Given the description of an element on the screen output the (x, y) to click on. 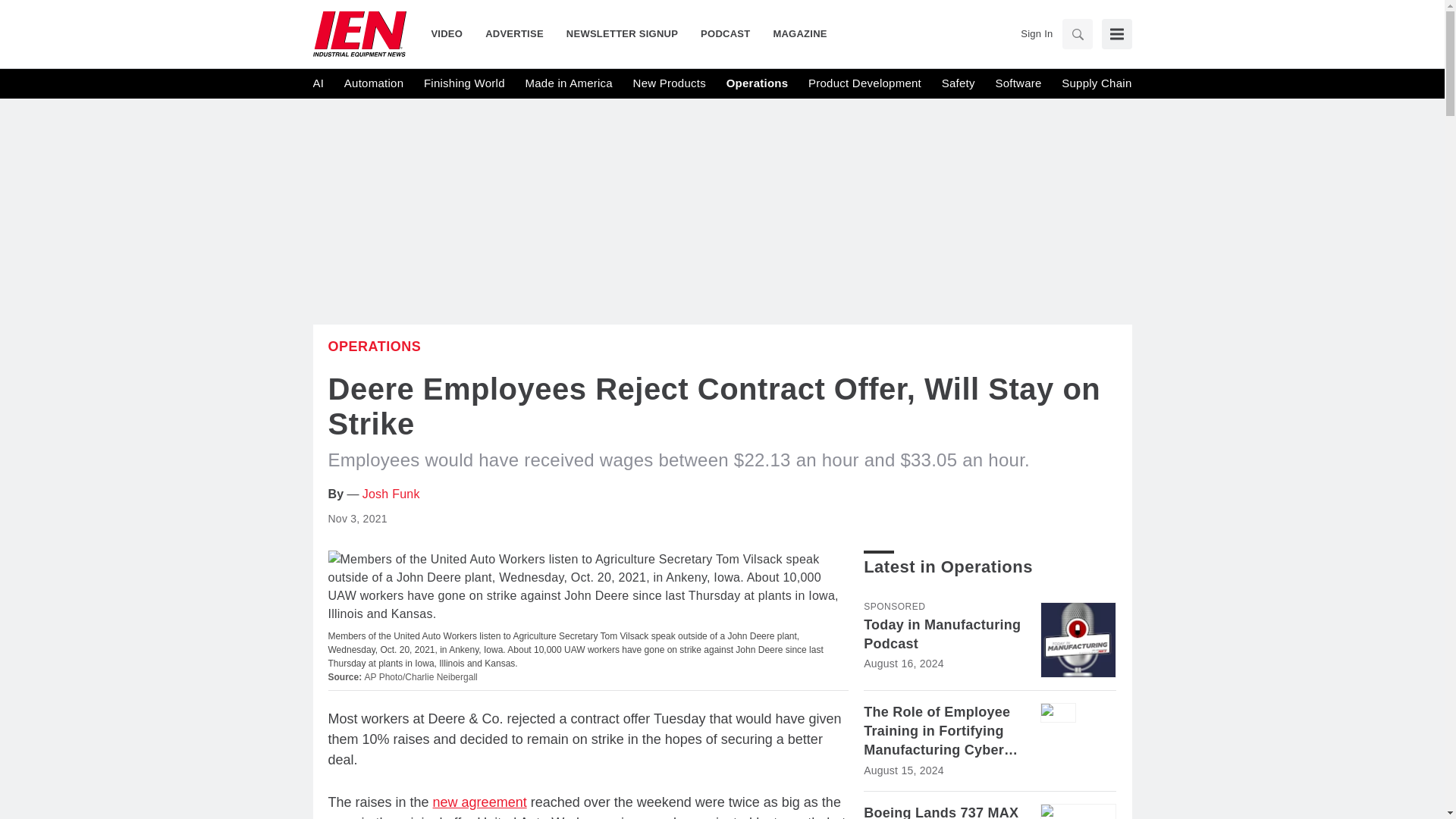
Safety (958, 83)
NEWSLETTER SIGNUP (621, 33)
ADVERTISE (514, 33)
New Products (669, 83)
Software (1017, 83)
Automation (373, 83)
Sponsored (893, 605)
Sign In (1036, 33)
VIDEO (452, 33)
Operations (373, 346)
